Given the description of an element on the screen output the (x, y) to click on. 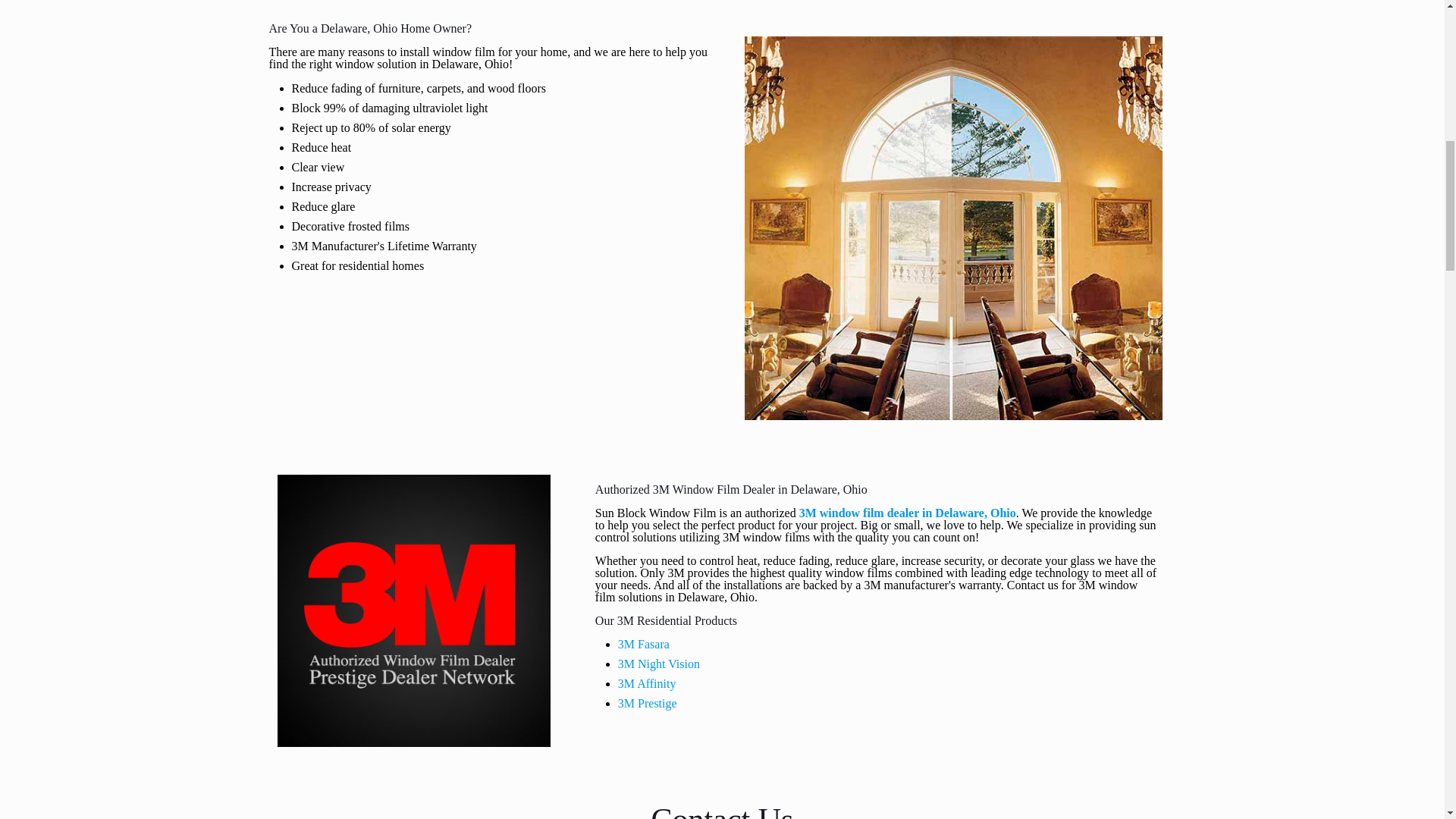
3M Night Vision (658, 663)
3M Fasara (643, 644)
3M Affinity (647, 683)
3M Prestige (647, 703)
3M window film dealer in Delaware, Ohio (907, 512)
